Given the description of an element on the screen output the (x, y) to click on. 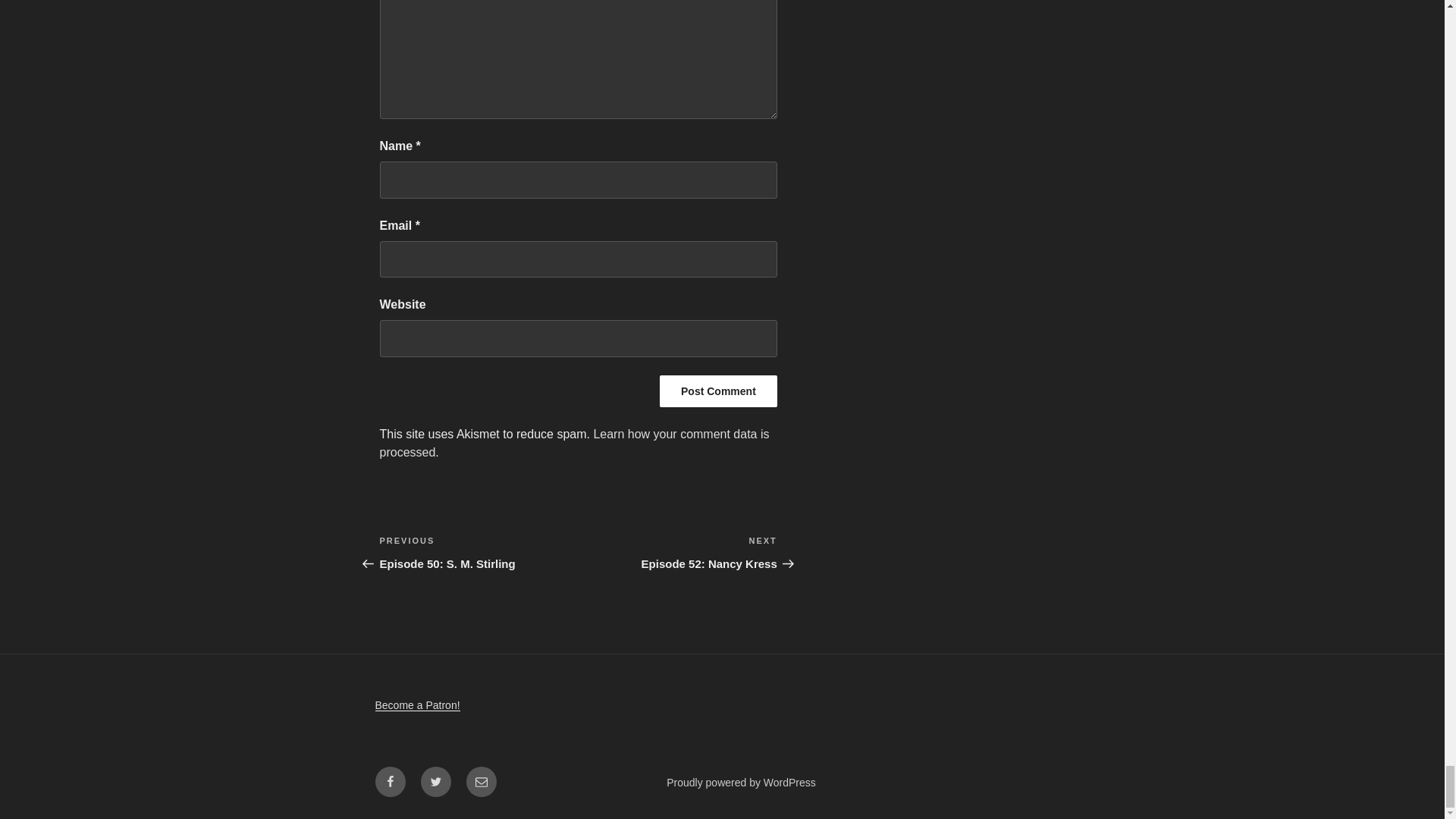
Post Comment (718, 391)
